Given the description of an element on the screen output the (x, y) to click on. 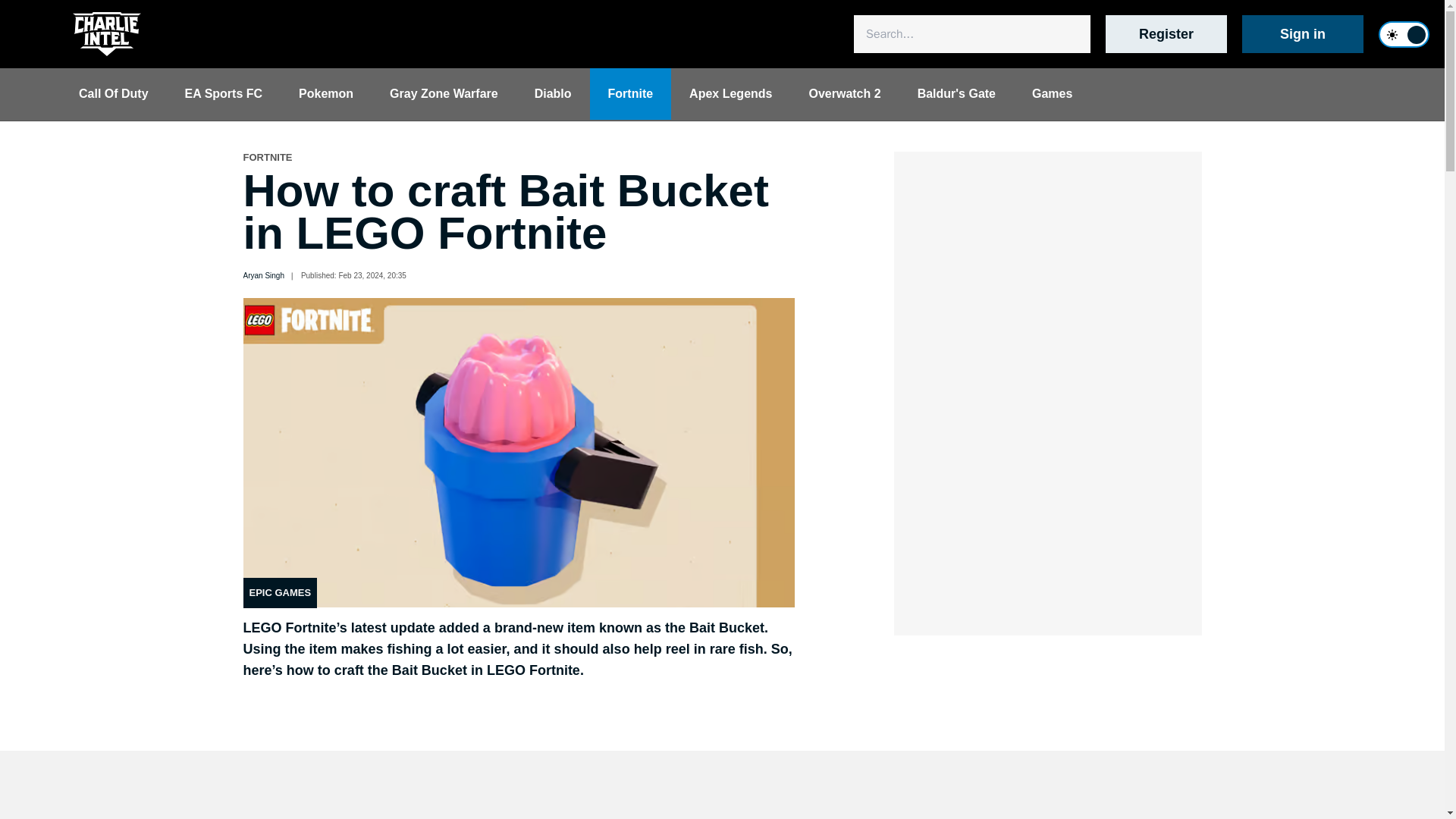
Overwatch 2 (844, 93)
Gray Zone Warfare (443, 93)
EA Sports FC (224, 93)
Sign in (1301, 34)
Aryan Singh (263, 276)
Baldur'S Gate (956, 93)
Apex Legends (730, 93)
Diablo (552, 93)
Games (1051, 93)
FORTNITE (267, 157)
Register (1166, 34)
Pokemon (326, 93)
Fortnite (630, 93)
Call Of Duty (114, 93)
